Given the description of an element on the screen output the (x, y) to click on. 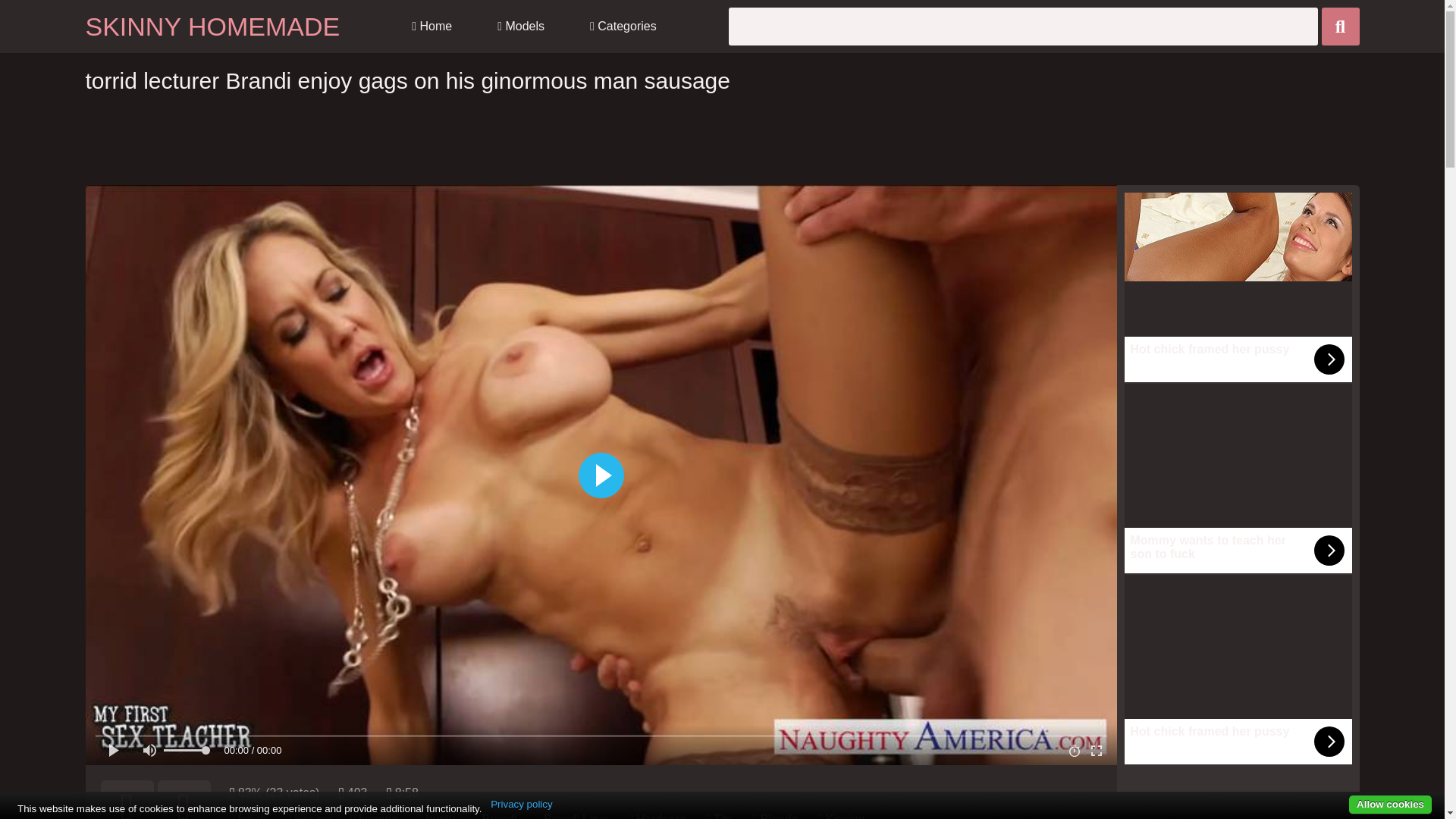
Kissing (844, 816)
SKINNY HOMEMADE (211, 26)
Search (1339, 26)
kissing (312, 816)
Hot chick framed her pussy (1237, 287)
Hot chick framed her pussy (1237, 669)
busty (440, 816)
Categories (623, 26)
Blonde (778, 816)
Hardcore (660, 816)
